Given the description of an element on the screen output the (x, y) to click on. 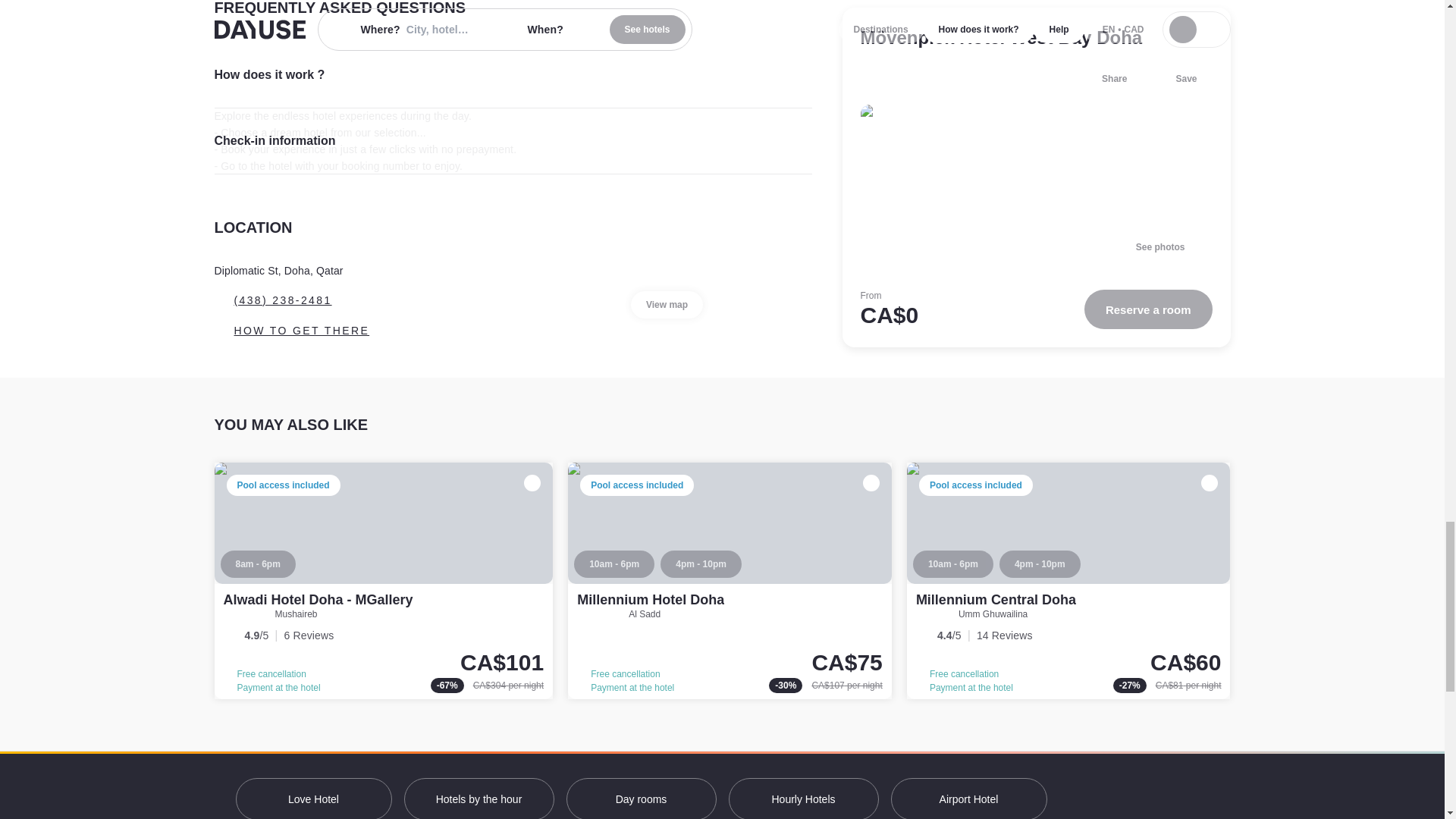
Alwadi Hotel Doha - MGallery (317, 599)
Millennium Hotel Doha (729, 580)
Millennium Central Doha (995, 599)
Millennium Central Doha (1068, 580)
Alwadi Hotel Doha - MGallery (383, 580)
Millennium Hotel Doha (649, 599)
